Given the description of an element on the screen output the (x, y) to click on. 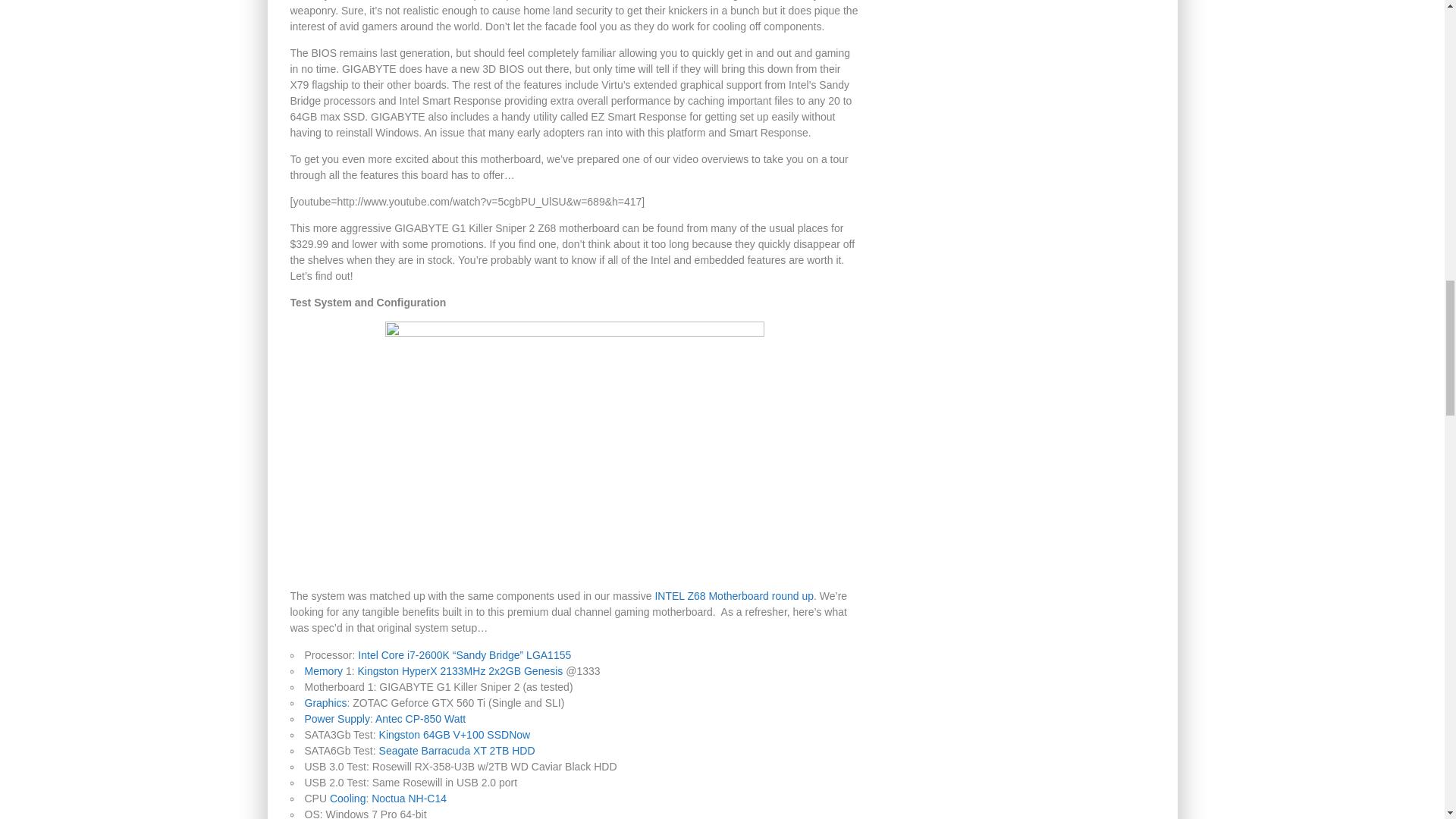
Memory (323, 671)
Kingston HyperX Genesis (460, 671)
Power Supply (336, 718)
Intel Next Generation Core i5-2500K and i7-2600K  (462, 654)
